Given the description of an element on the screen output the (x, y) to click on. 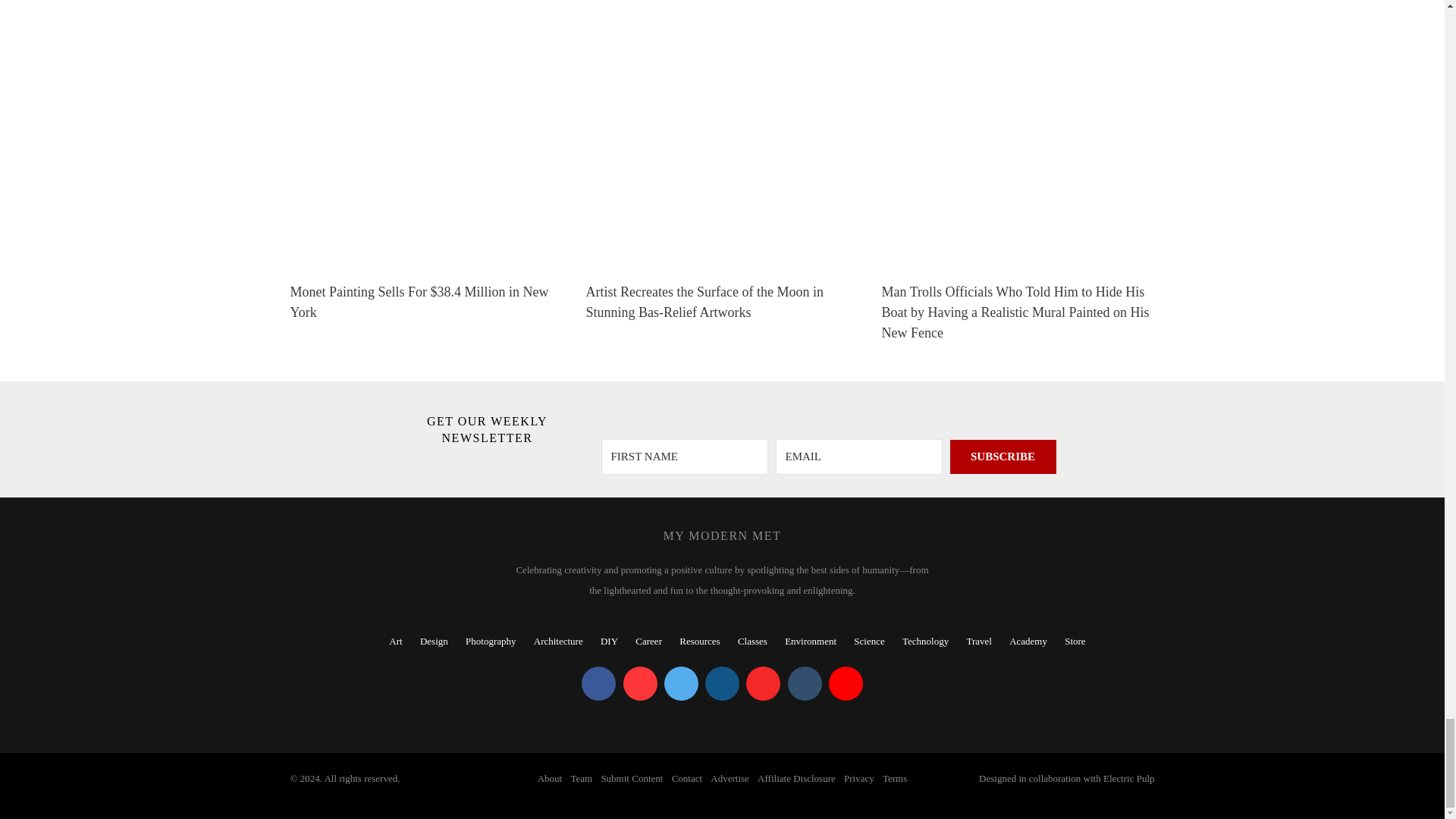
My Modern Met on Tumblr (804, 683)
My Modern Met on Twitter (680, 683)
My Modern Met on Pinterest (640, 683)
My Modern Met on YouTube (845, 683)
My Modern Met on Facebook (597, 683)
My Modern Met on Instagram (721, 683)
